Given the description of an element on the screen output the (x, y) to click on. 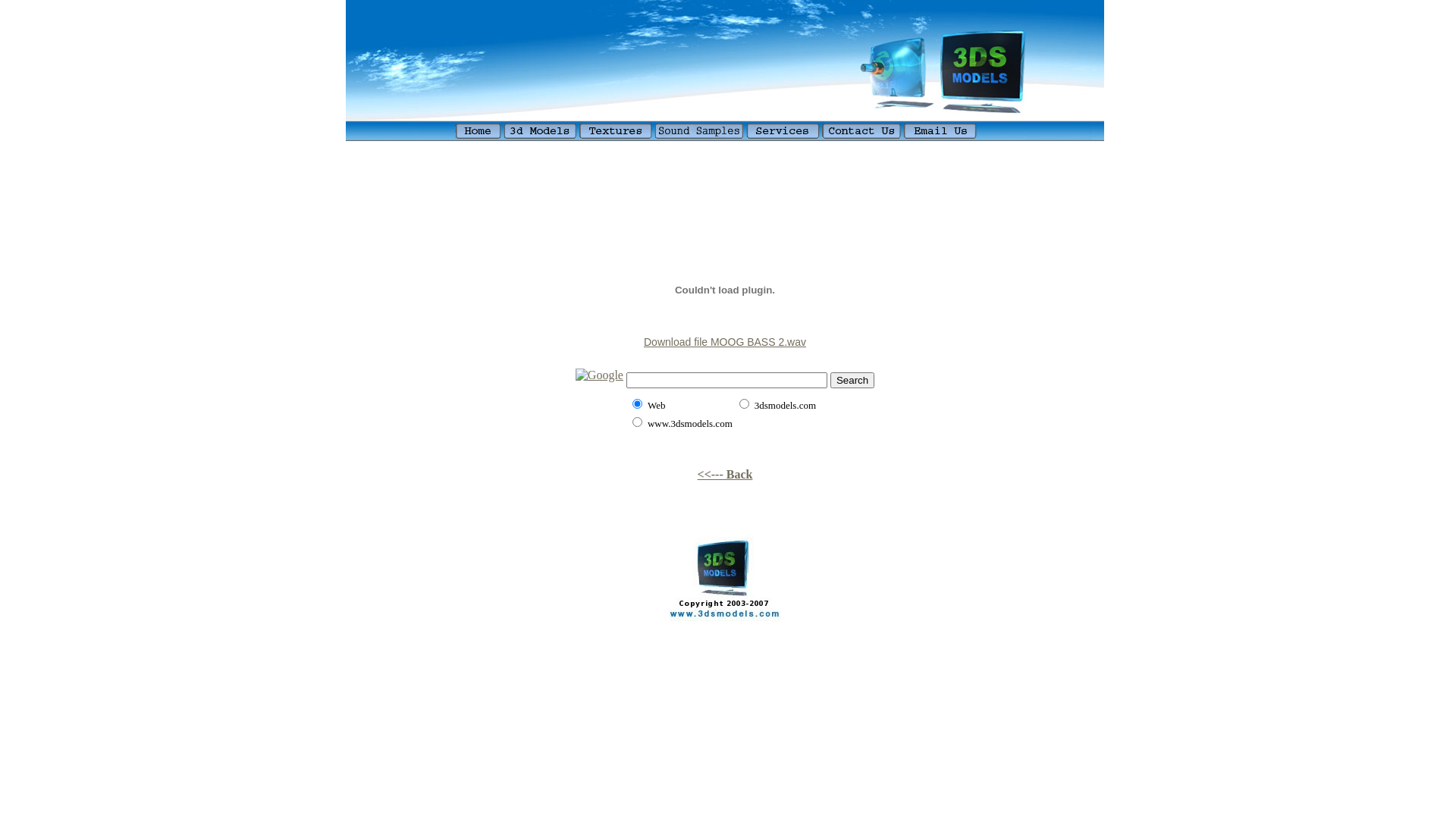
Advertisement Element type: hover (724, 150)
Search Element type: text (852, 379)
<<--- Back Element type: text (725, 473)
Download file MOOG BASS 2.wav Element type: text (724, 341)
Advertisement Element type: hover (724, 208)
